Given the description of an element on the screen output the (x, y) to click on. 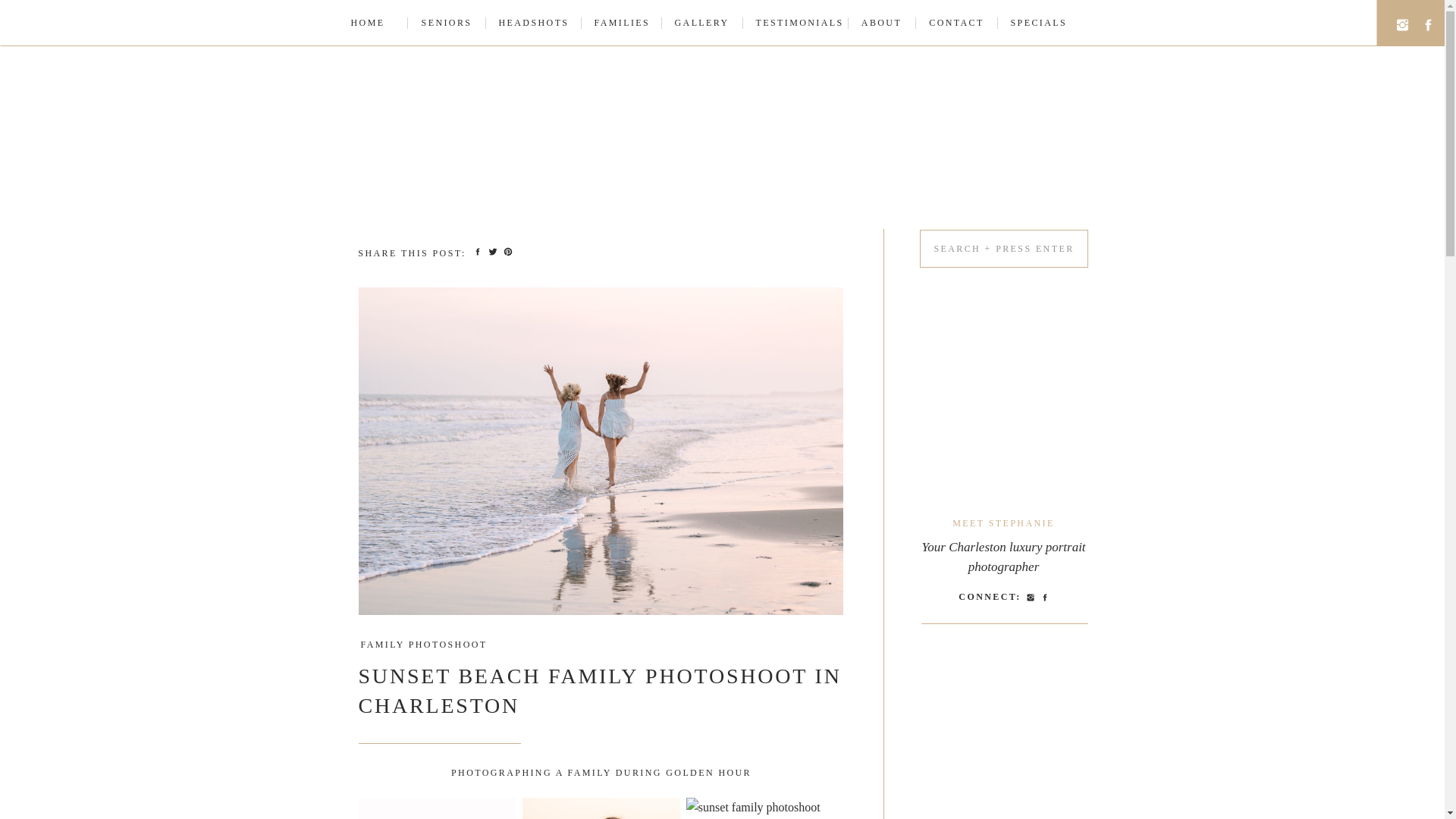
HEADSHOTS (533, 22)
TESTIMONIALS (794, 22)
FAMILIES (621, 22)
GALLERY (702, 22)
CONTACT (956, 22)
SENIORS (445, 22)
HOME (366, 22)
FAMILY PHOTOSHOOT (422, 644)
ABOUT (881, 22)
MEET STEPHANIE (1002, 522)
